Given the description of an element on the screen output the (x, y) to click on. 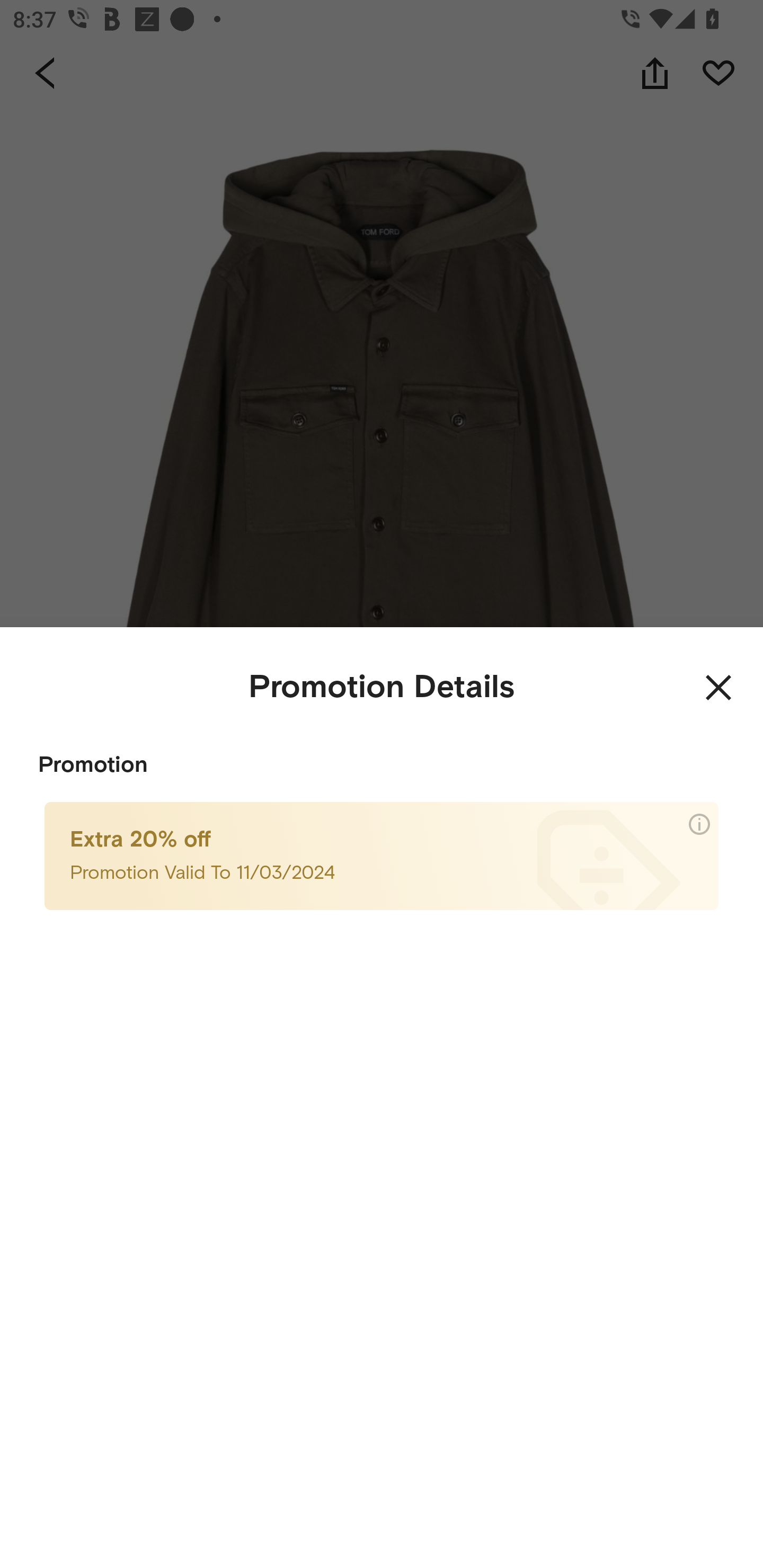
Extra 20% off Promotion Valid To 11/03/2024 (381, 855)
